Given the description of an element on the screen output the (x, y) to click on. 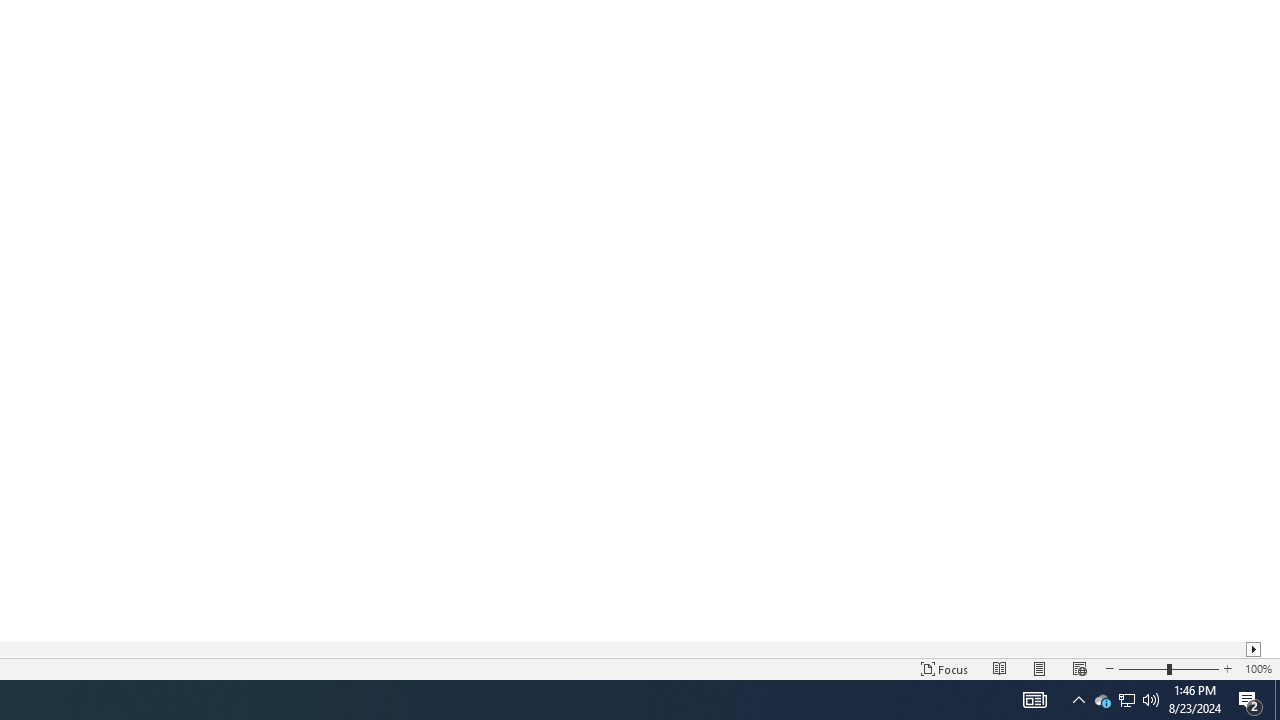
Zoom 100% (1258, 668)
Column right (1254, 649)
